Given the description of an element on the screen output the (x, y) to click on. 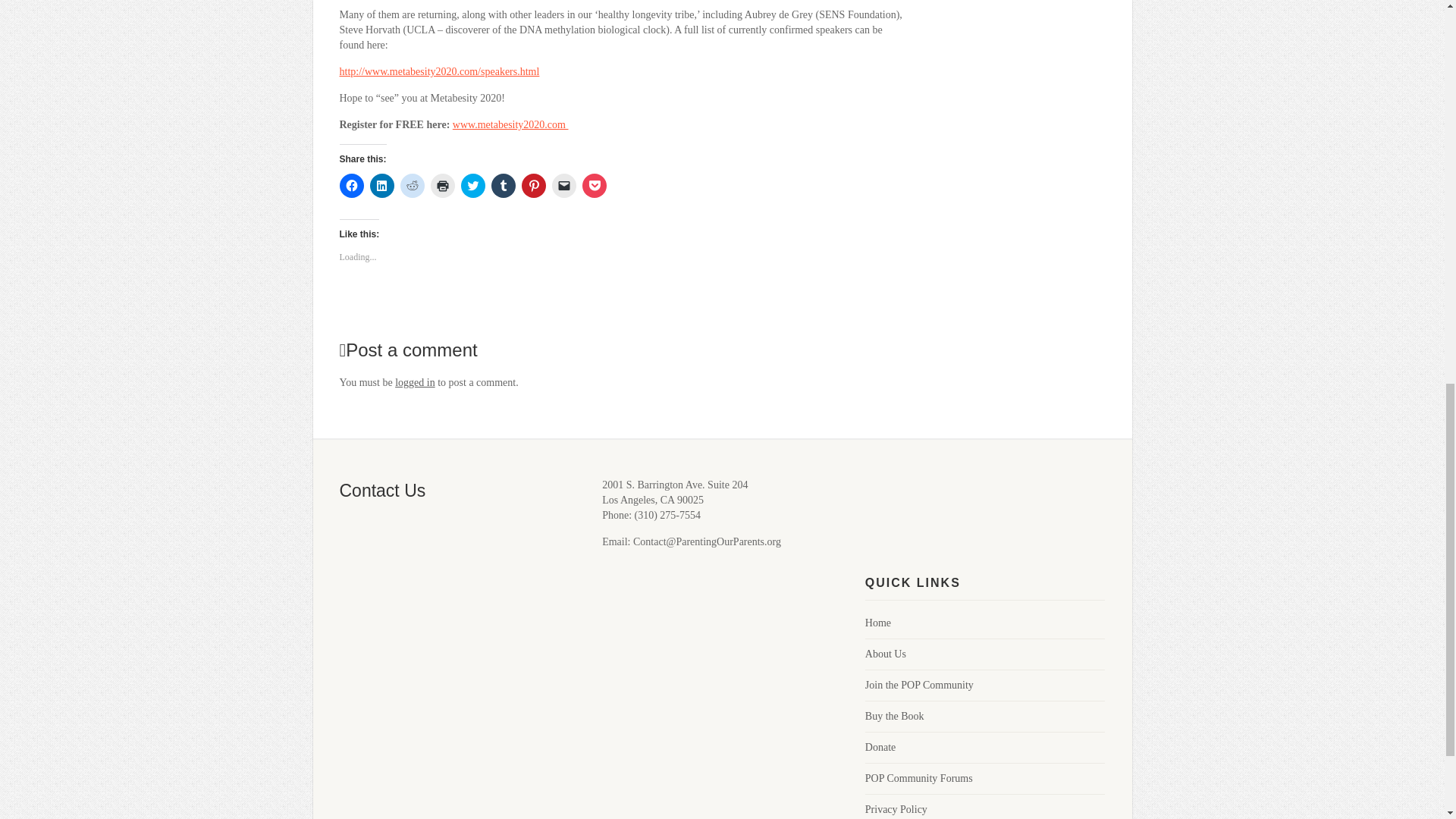
Click to share on LinkedIn (381, 185)
Click to email a link to a friend (563, 185)
Click to share on Reddit (412, 185)
Click to share on Facebook (351, 185)
Click to print (442, 185)
Click to share on Pinterest (533, 185)
Click to share on Twitter (472, 185)
Click to share on Pocket (594, 185)
Click to share on Tumblr (503, 185)
